Given the description of an element on the screen output the (x, y) to click on. 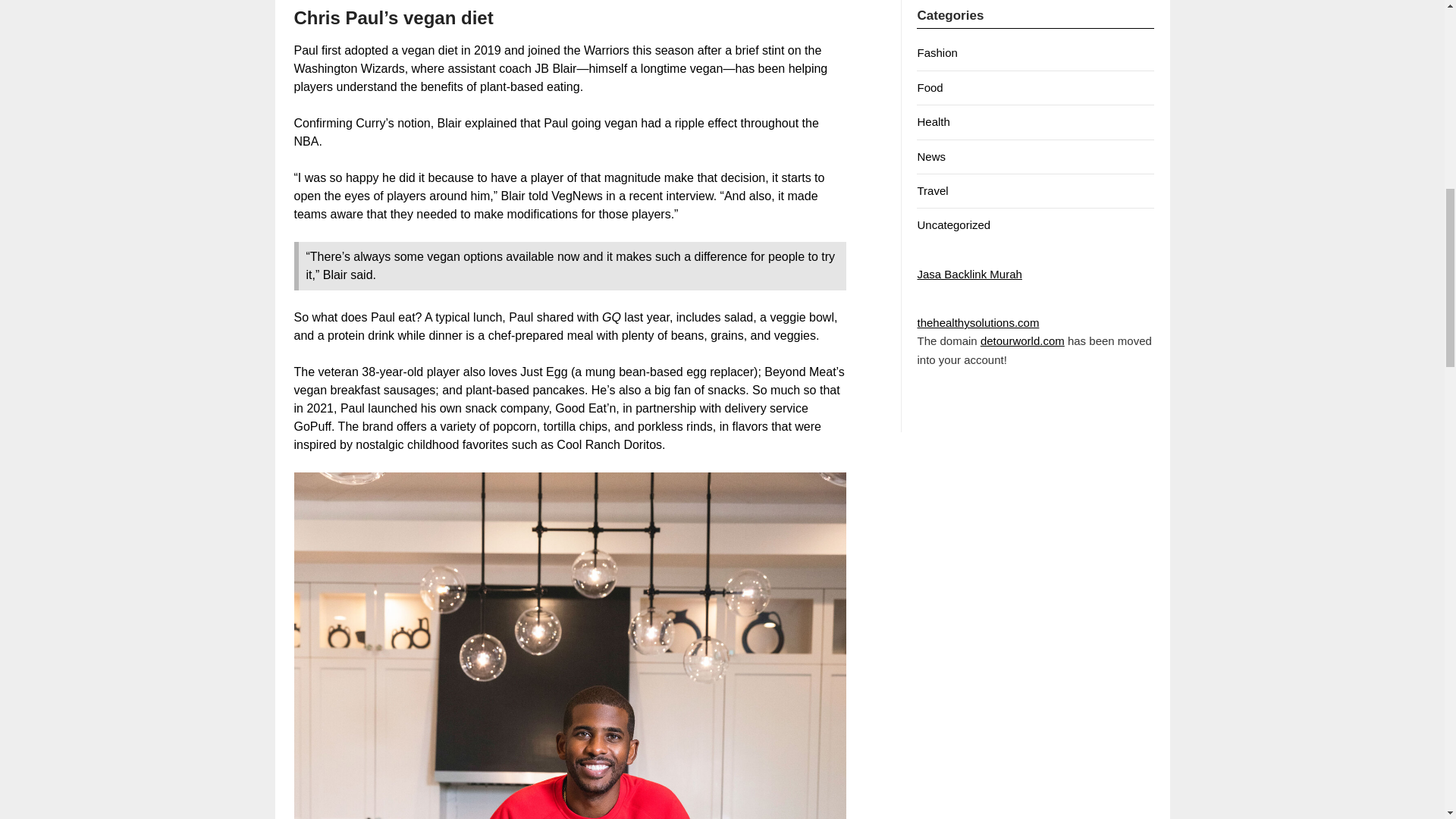
Health (933, 121)
Fashion (936, 51)
Travel (932, 190)
Food (929, 87)
Jasa Backlink Murah (969, 273)
Uncategorized (953, 224)
thehealthysolutions.com (978, 322)
News (930, 155)
